Given the description of an element on the screen output the (x, y) to click on. 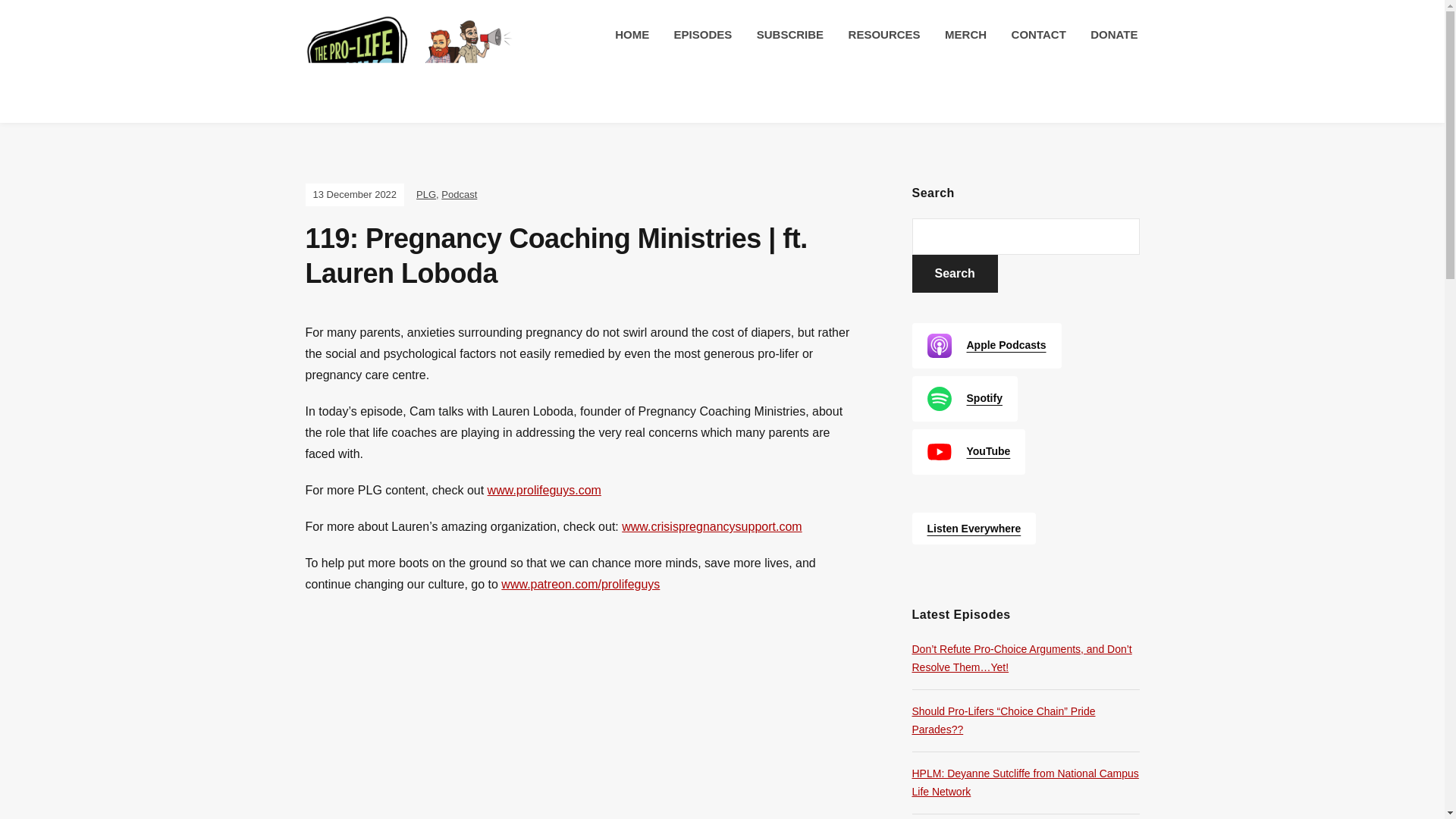
HOME (631, 34)
EPISODES (702, 34)
SUBSCRIBE (790, 34)
Search (954, 273)
